Given the description of an element on the screen output the (x, y) to click on. 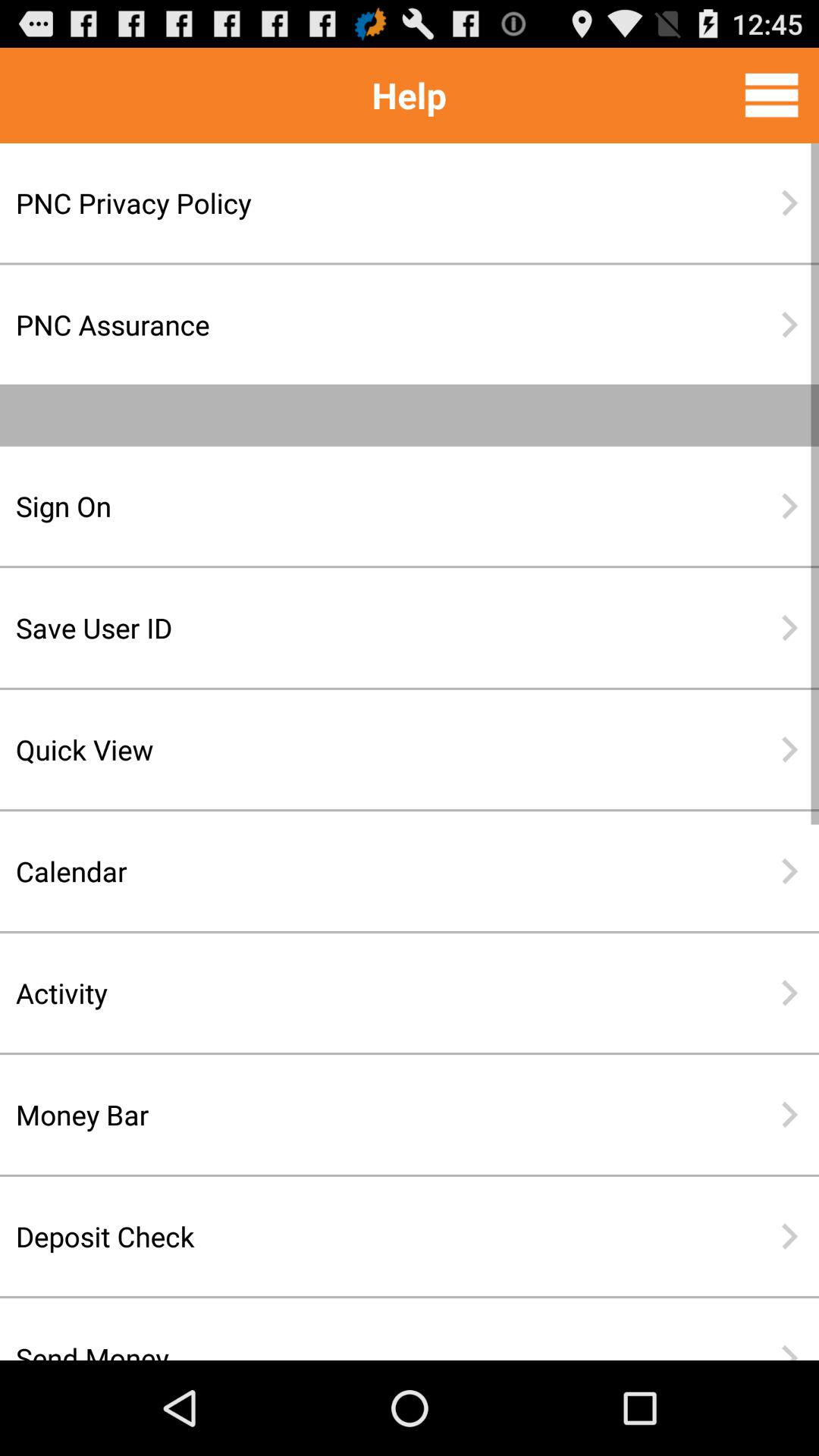
choose the save user id icon (359, 627)
